Given the description of an element on the screen output the (x, y) to click on. 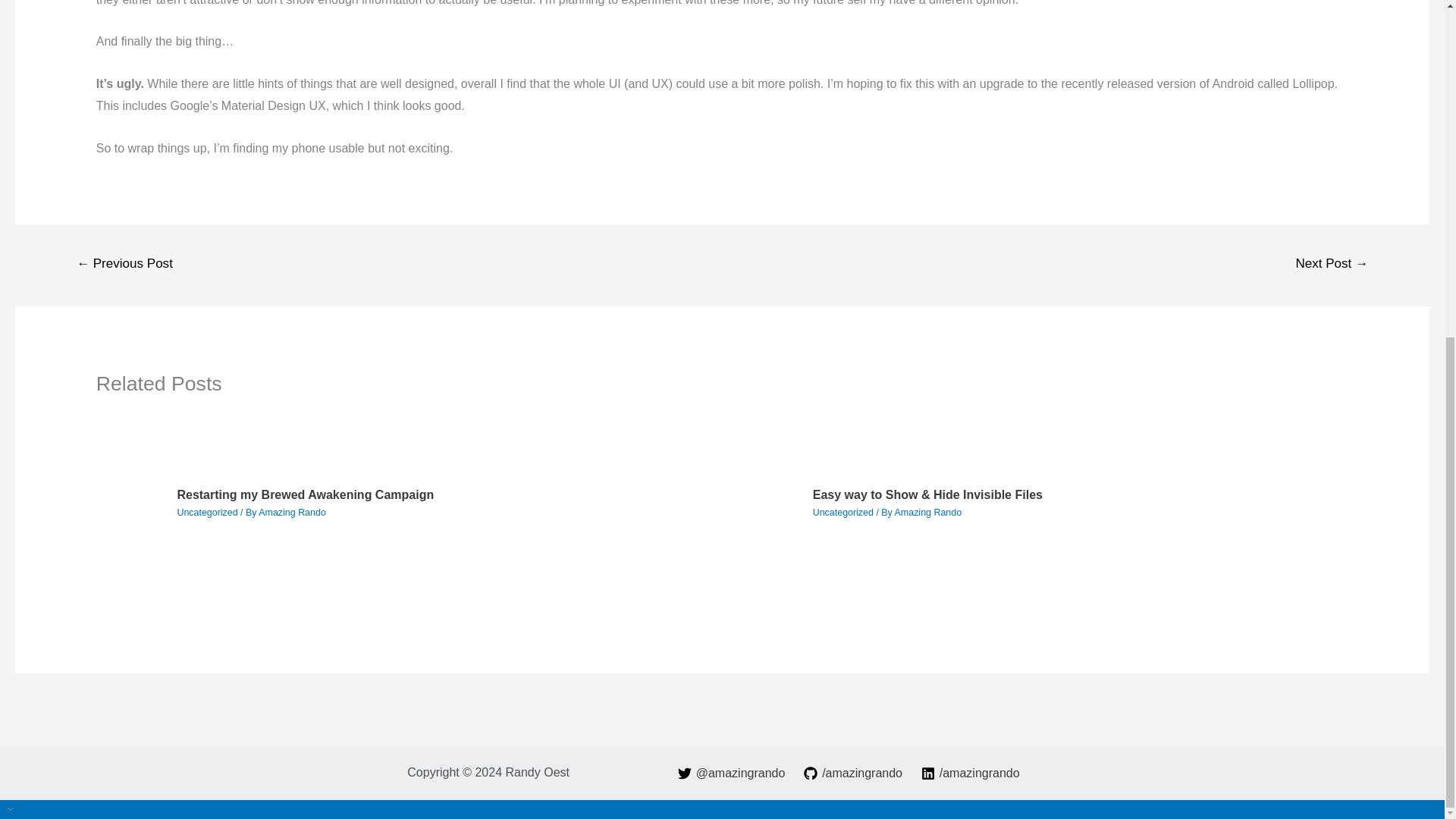
View all posts by Amazing Rando (292, 511)
Uncategorized (206, 511)
View all posts by Amazing Rando (928, 511)
Amazing Rando (928, 511)
Amazing Rando (292, 511)
Restarting my Brewed Awakening Campaign (304, 494)
Uncategorized (842, 511)
